Given the description of an element on the screen output the (x, y) to click on. 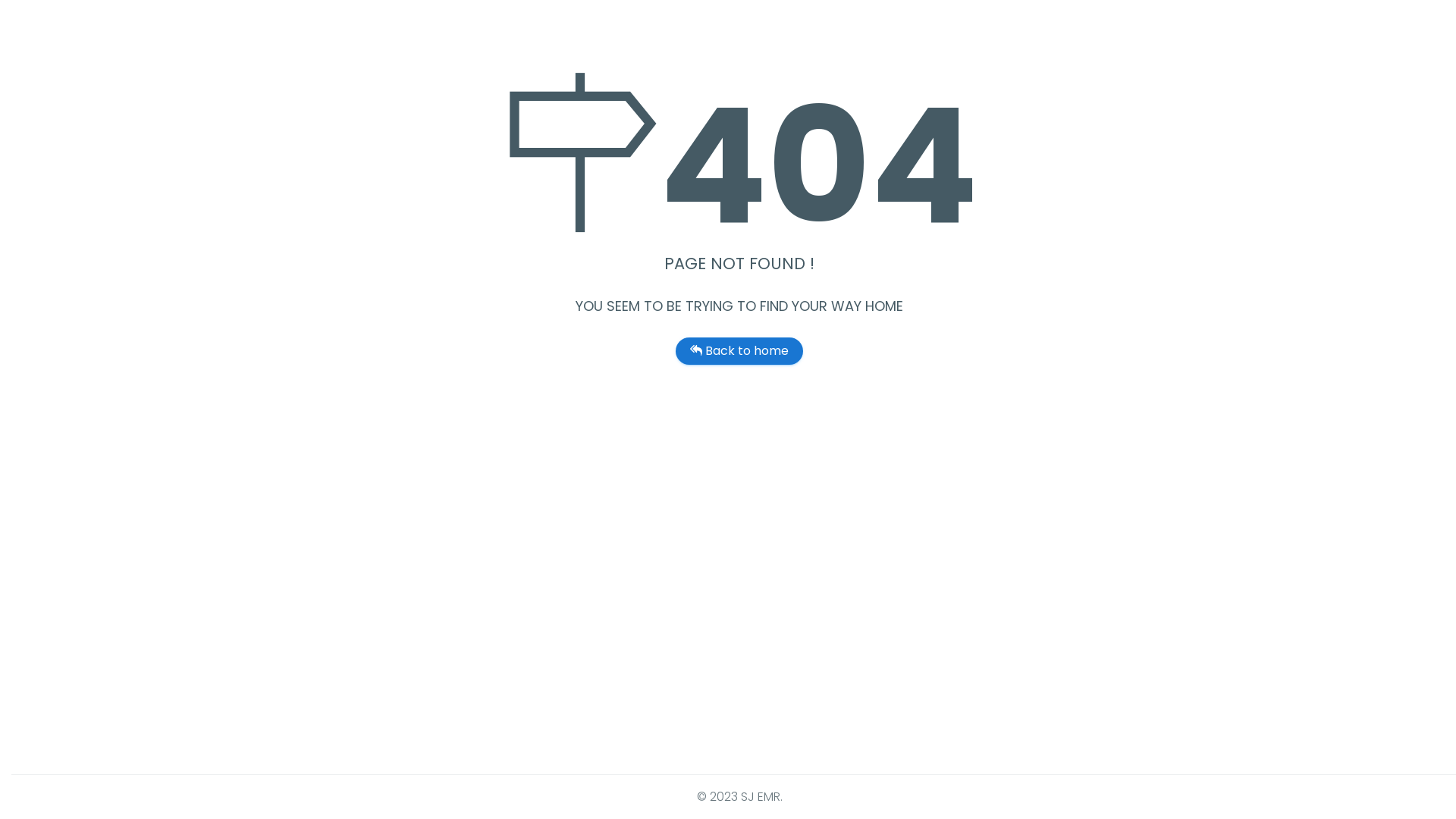
Back to home Element type: text (739, 350)
